Given the description of an element on the screen output the (x, y) to click on. 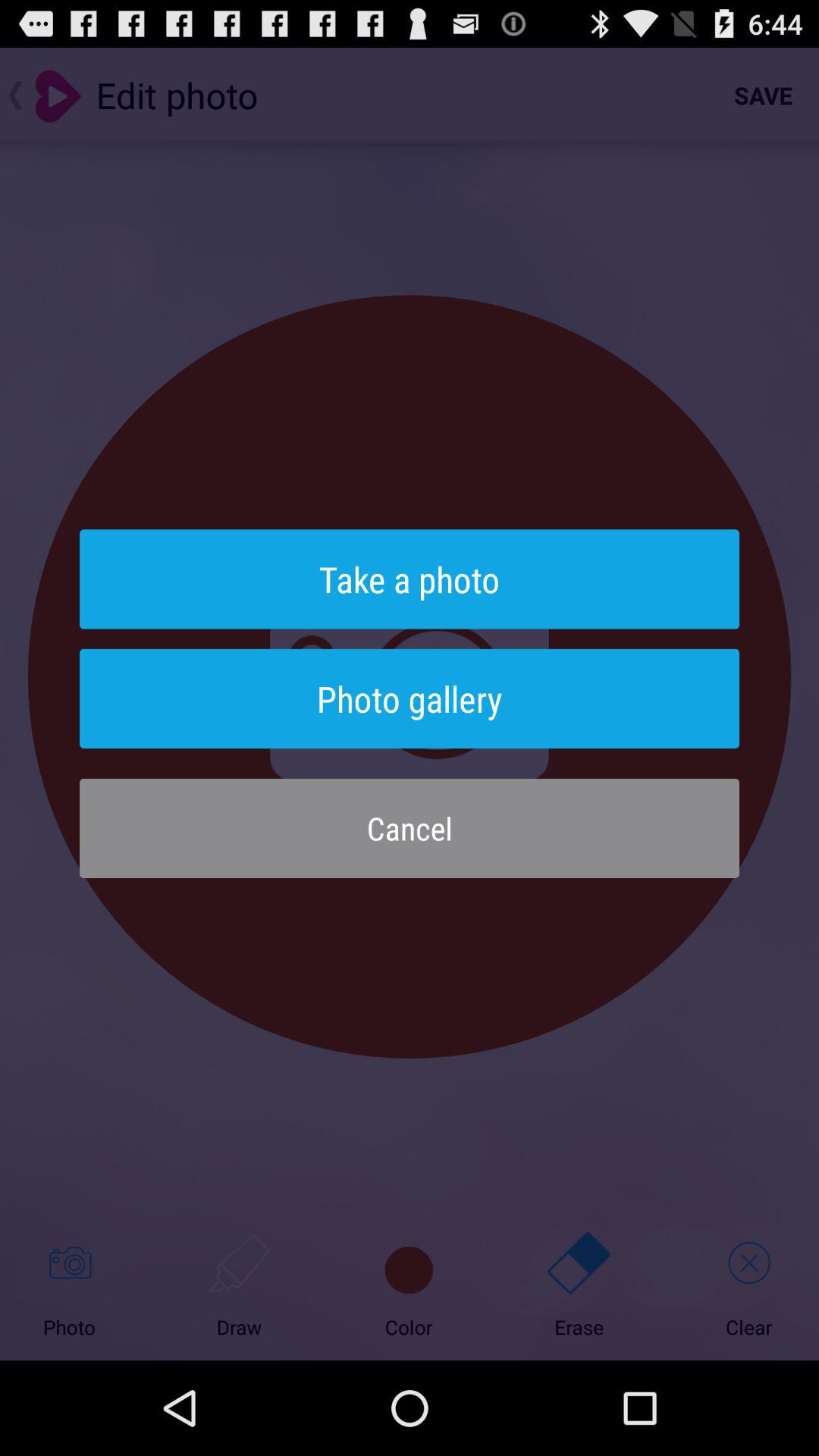
launch the item above photo gallery item (409, 579)
